Given the description of an element on the screen output the (x, y) to click on. 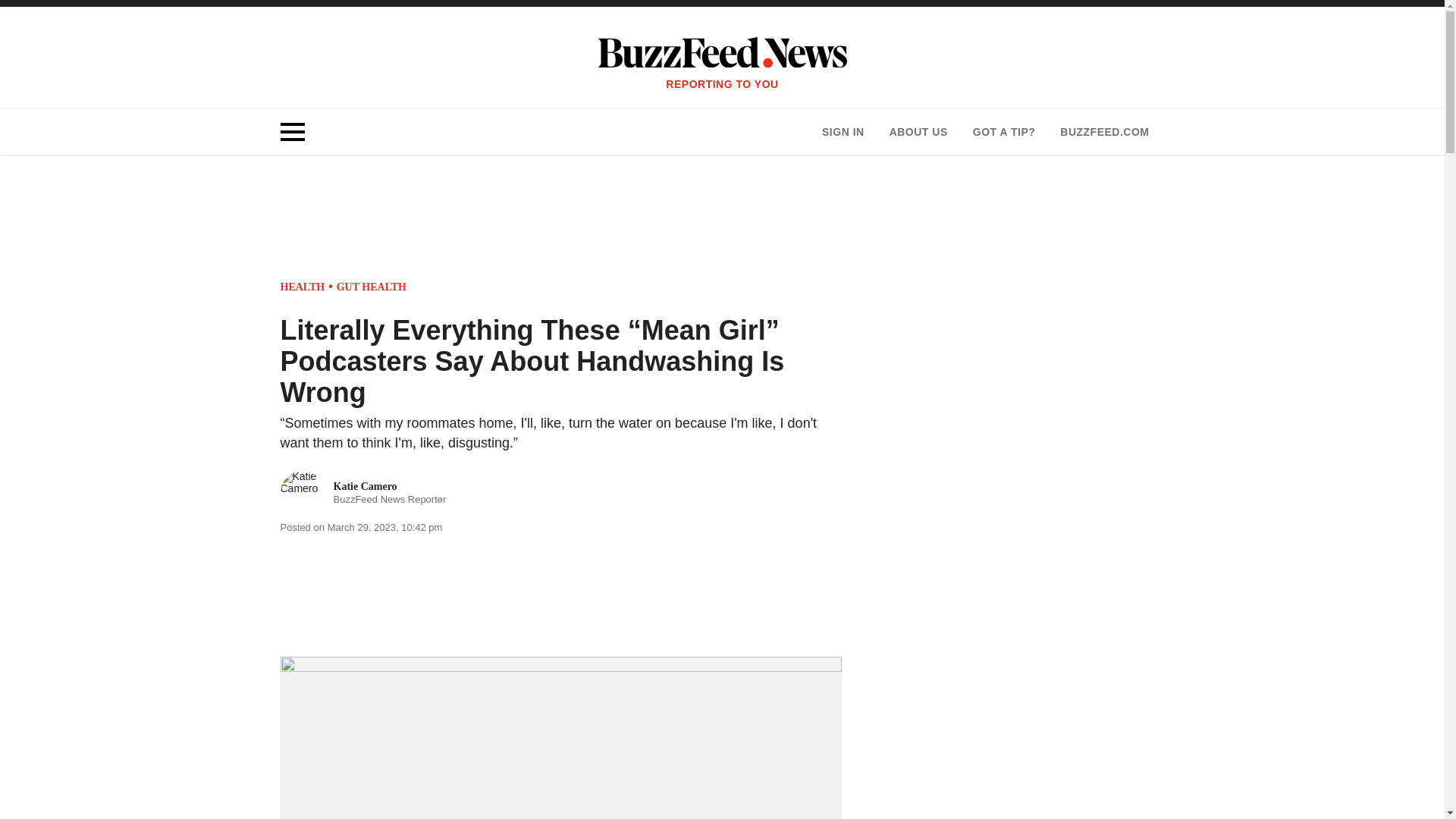
GOT A TIP? (1003, 131)
BUZZFEED.COM (1103, 131)
ABOUT US (917, 131)
HEALTH (363, 492)
GUT HEALTH (302, 286)
SIGN IN (371, 286)
